Given the description of an element on the screen output the (x, y) to click on. 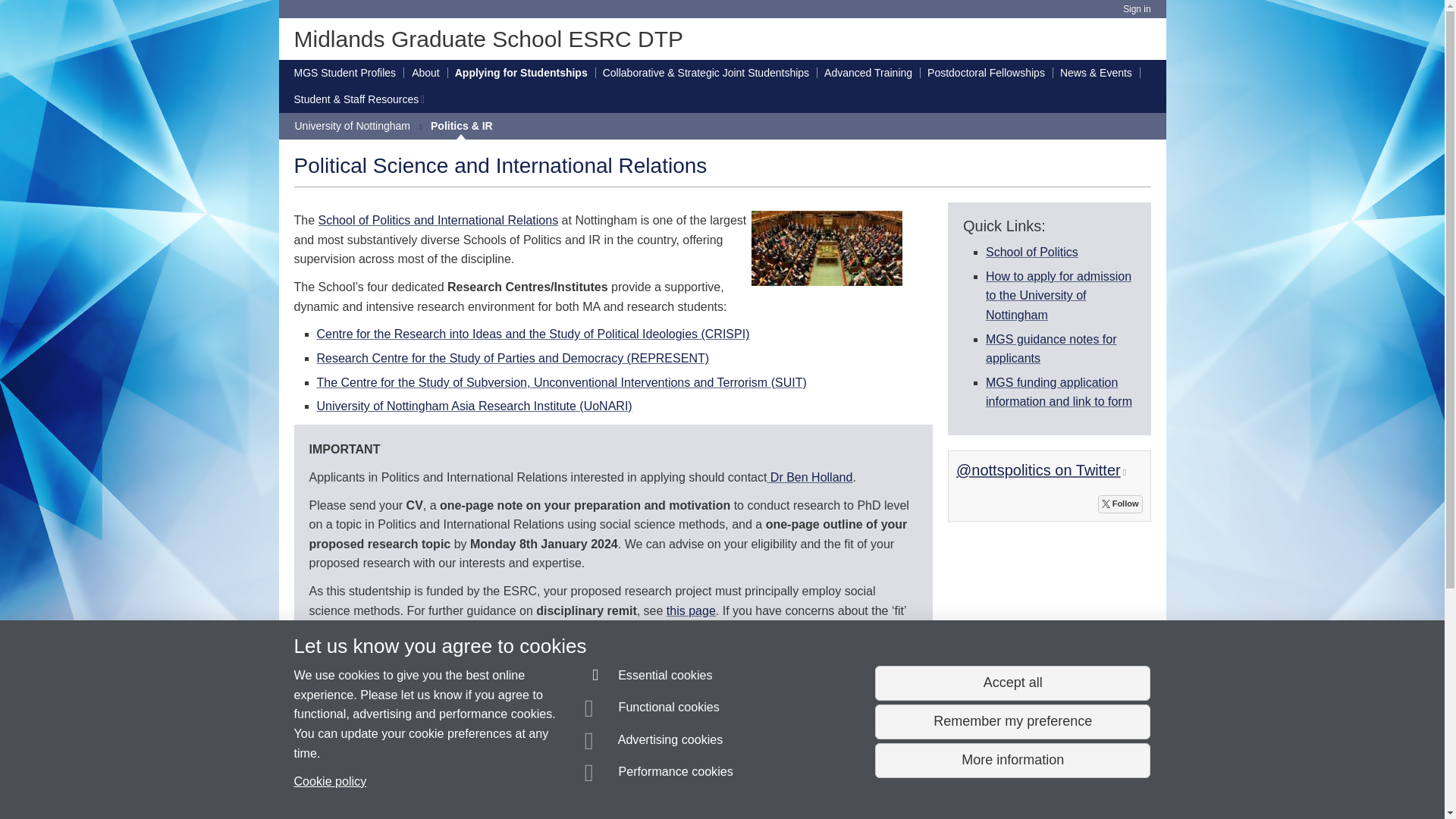
University of Nottingham (352, 125)
Guidance (1050, 348)
Sign in (1136, 9)
School of Politics and International Relations (438, 219)
Midlands Graduate School ESRC DTP (489, 38)
this page (691, 610)
Advanced Training (868, 72)
UoN Admissions (1058, 295)
MGS Student Profiles (345, 72)
Dr Ben Holland (809, 477)
Postdoctoral Fellowships (986, 72)
Form (1058, 391)
